Given the description of an element on the screen output the (x, y) to click on. 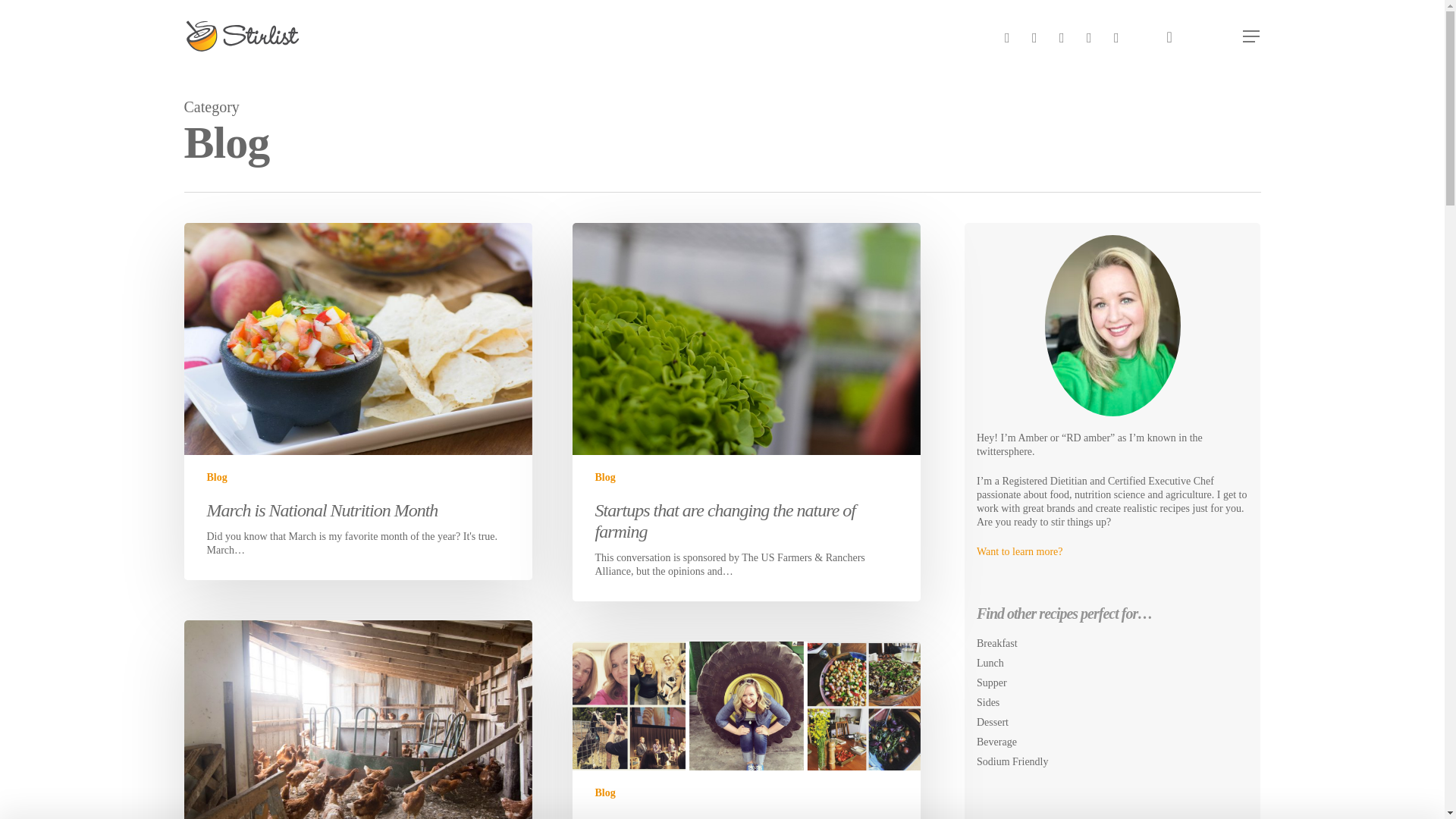
Blog (604, 477)
Blog (216, 477)
March is National Nutrition Month (322, 510)
2015 Stirlist Highlights (670, 817)
Blog (604, 792)
Startups that are changing the nature of farming (725, 520)
